Given the description of an element on the screen output the (x, y) to click on. 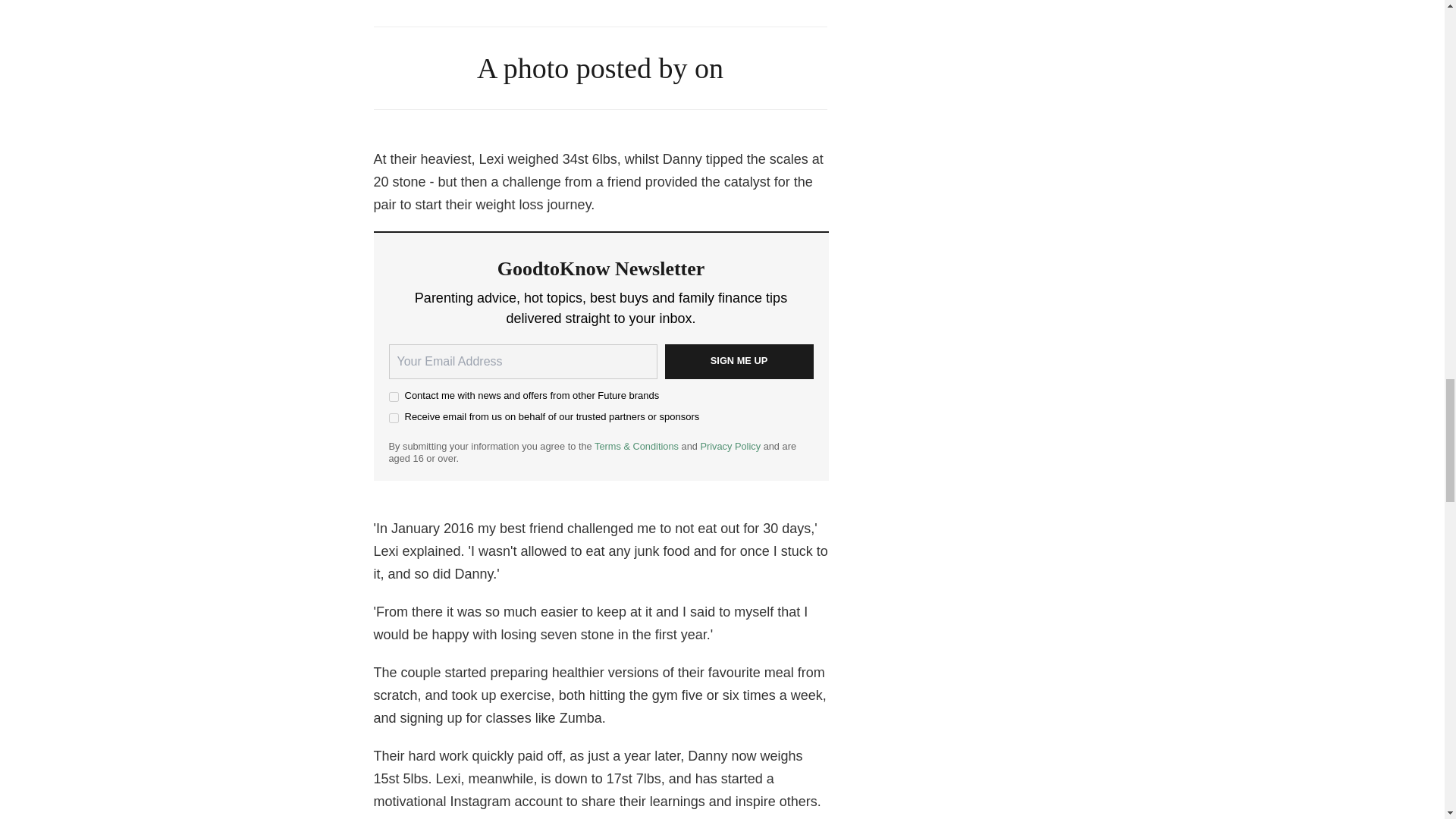
Sign me up (737, 361)
on (392, 418)
on (392, 397)
